Given the description of an element on the screen output the (x, y) to click on. 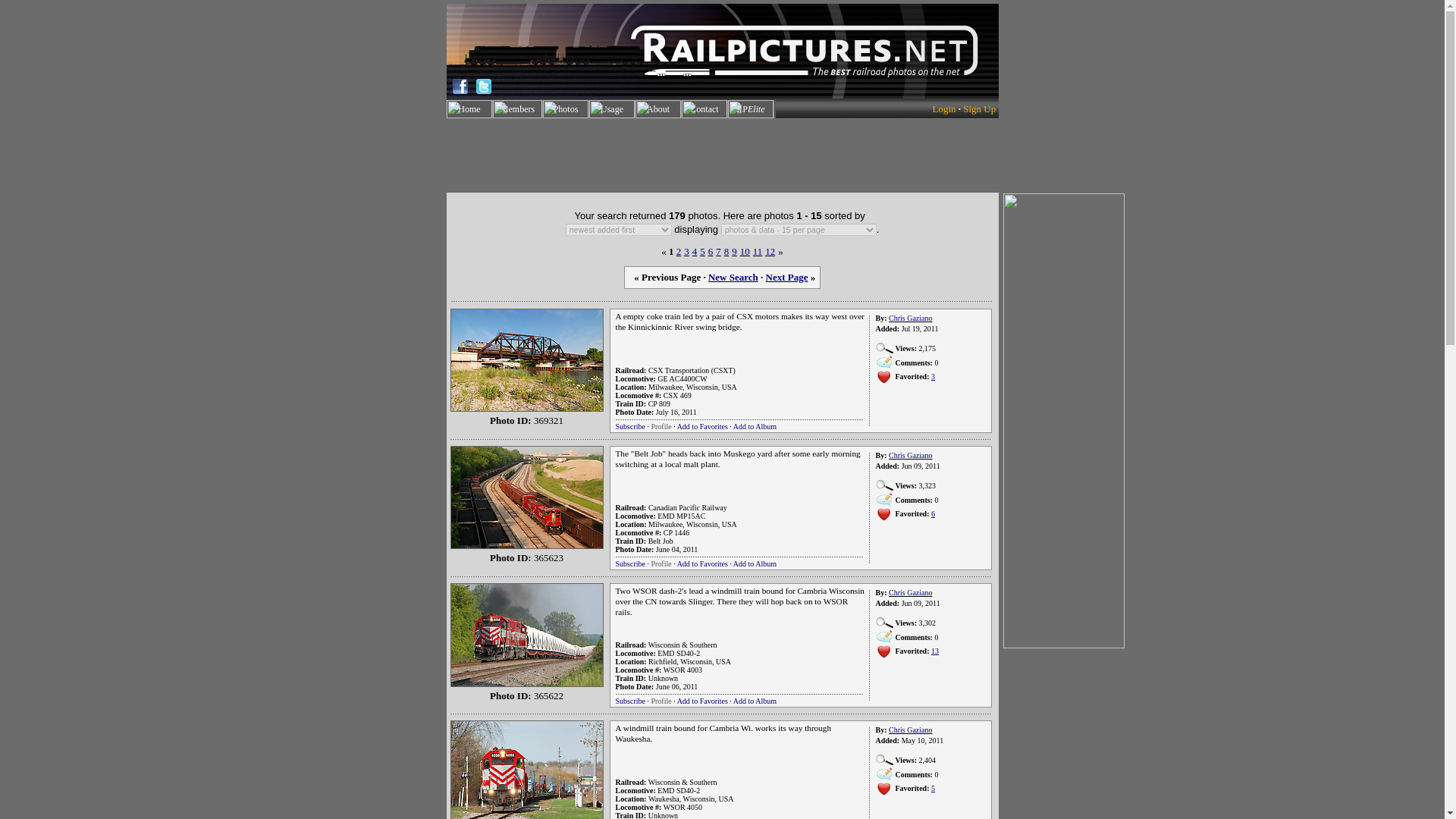
Milwaukee, Wisconsin, USA (691, 524)
Sign Up (978, 108)
Add to Album (754, 426)
Add to Favorites (702, 426)
Login (943, 108)
CSX 469 (677, 395)
Canadian Pacific Railway (686, 507)
Subscribe (630, 426)
Subscribe (630, 563)
EMD MP15AC (681, 515)
